Given the description of an element on the screen output the (x, y) to click on. 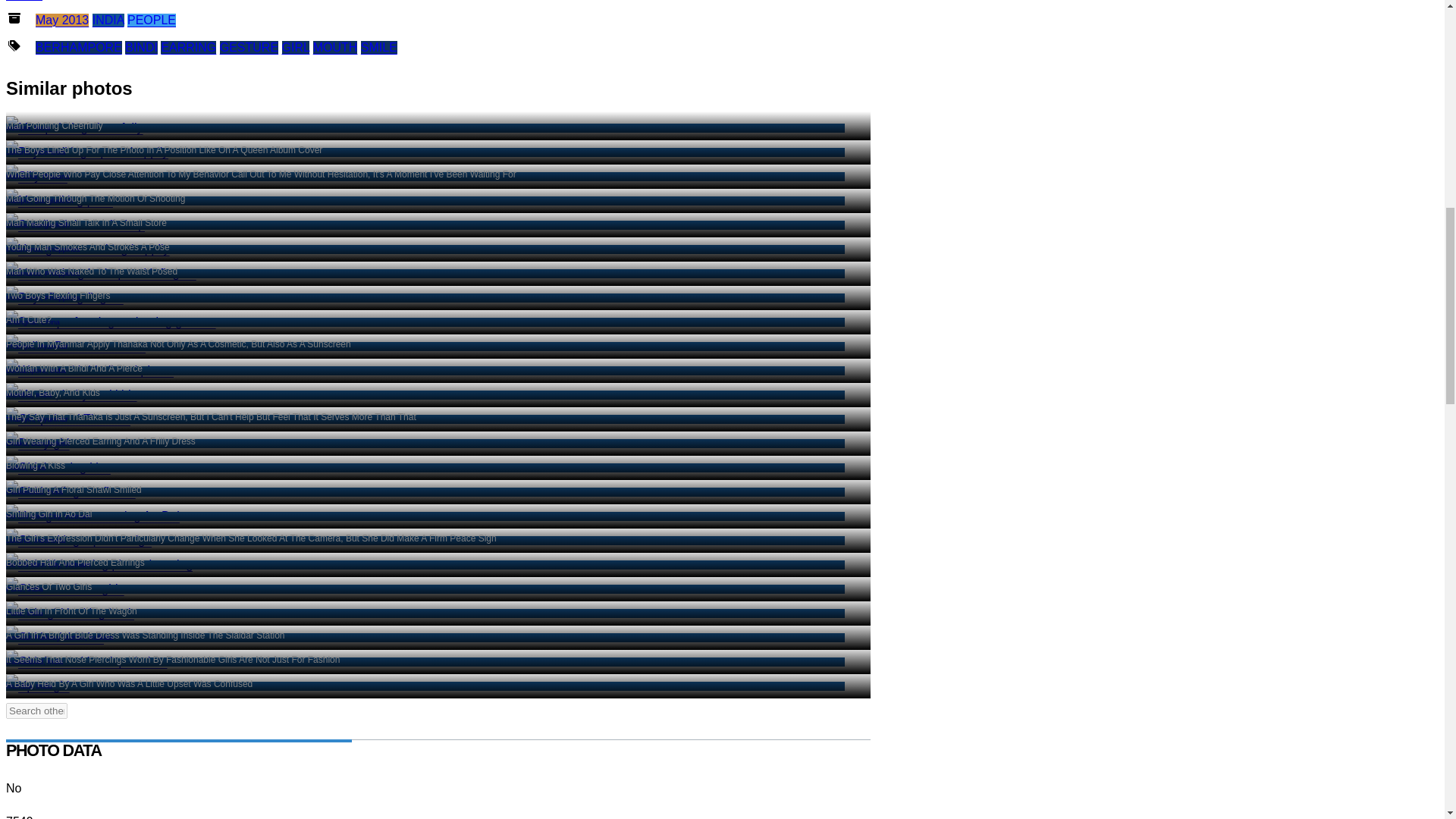
BERHAMPORE (78, 47)
Photos Tagged with GESTURE (100, 273)
GESTURE (87, 248)
CATEGORY ARCHIVE of PEOPLE (248, 47)
BINDI (248, 47)
MONTHLY ARCHIVE of May 2013 (152, 19)
